Given the description of an element on the screen output the (x, y) to click on. 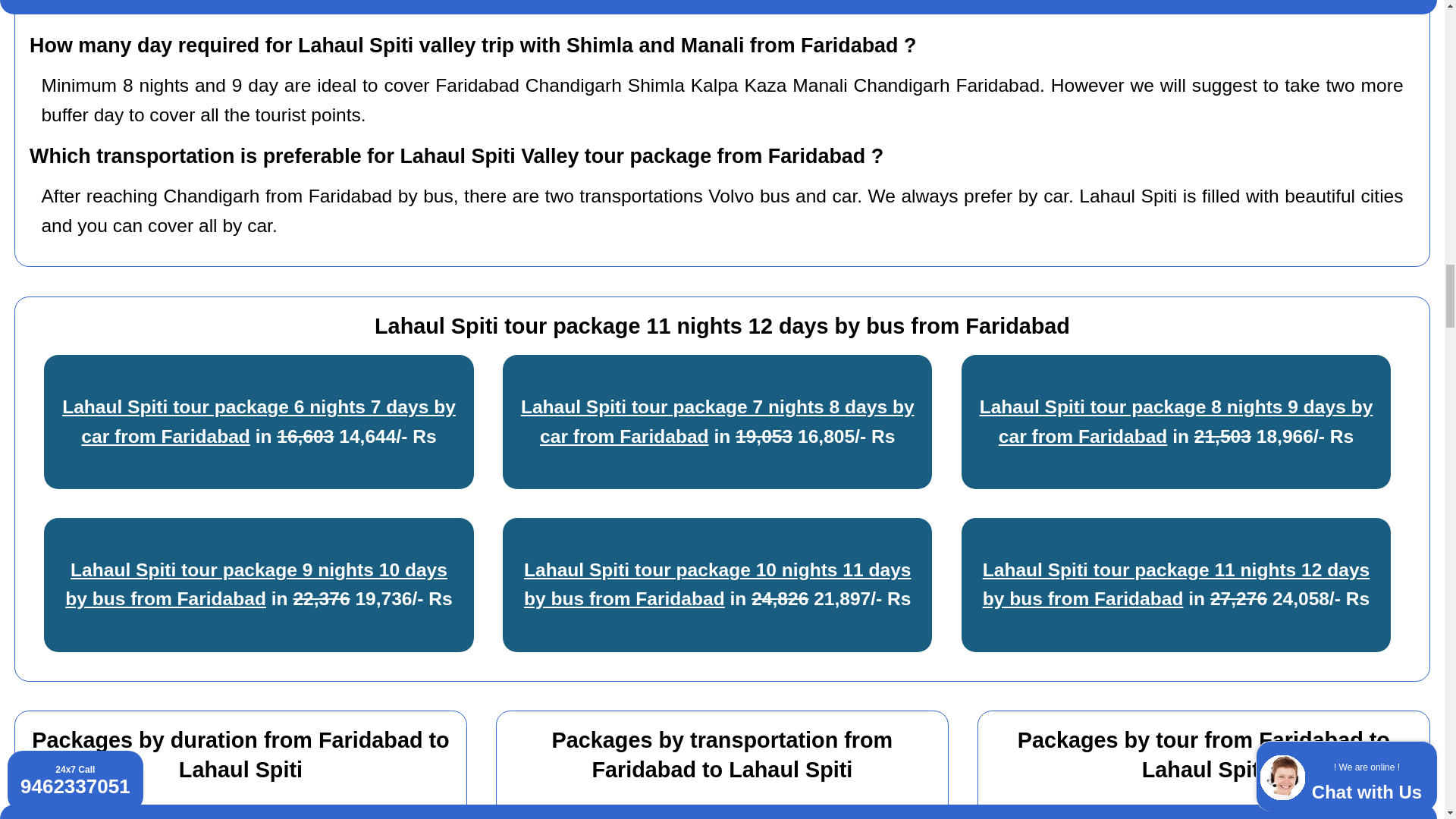
Lahaul Spiti packages by car from Faridabad (726, 814)
Lahaul Spiti 6 nights 7 days packages from Faridabad (236, 814)
Lahaul Spiti honeymoon packages from Faridabad (1186, 814)
